Given the description of an element on the screen output the (x, y) to click on. 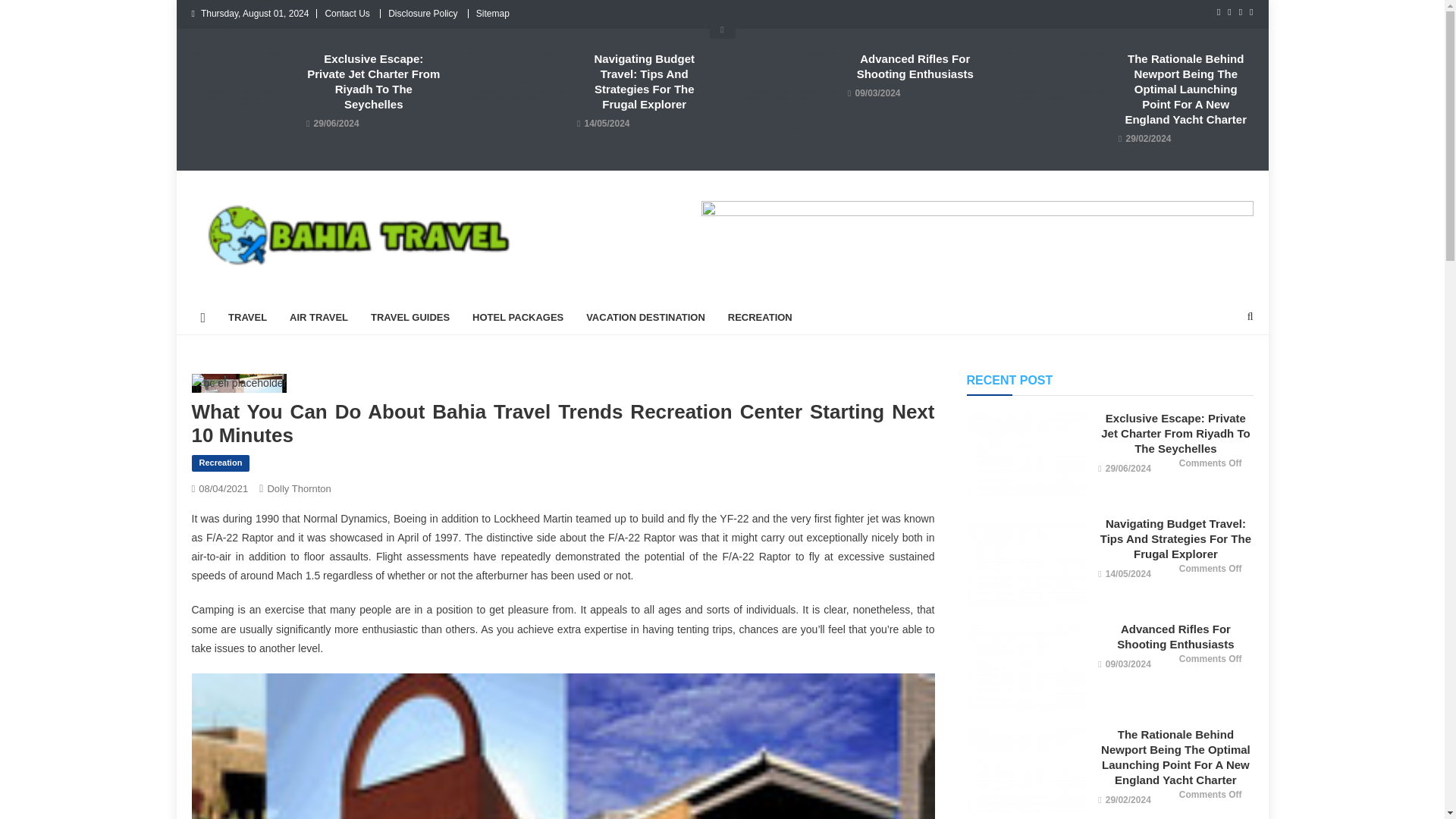
TRAVEL (247, 317)
Sitemap (492, 13)
Advanced Rifles for Shooting Enthusiasts (1026, 666)
Disclosure Policy (422, 13)
Feature Posts (722, 29)
Contact Us (346, 13)
AIR TRAVEL (318, 317)
VACATION DESTINATION (645, 317)
